Given the description of an element on the screen output the (x, y) to click on. 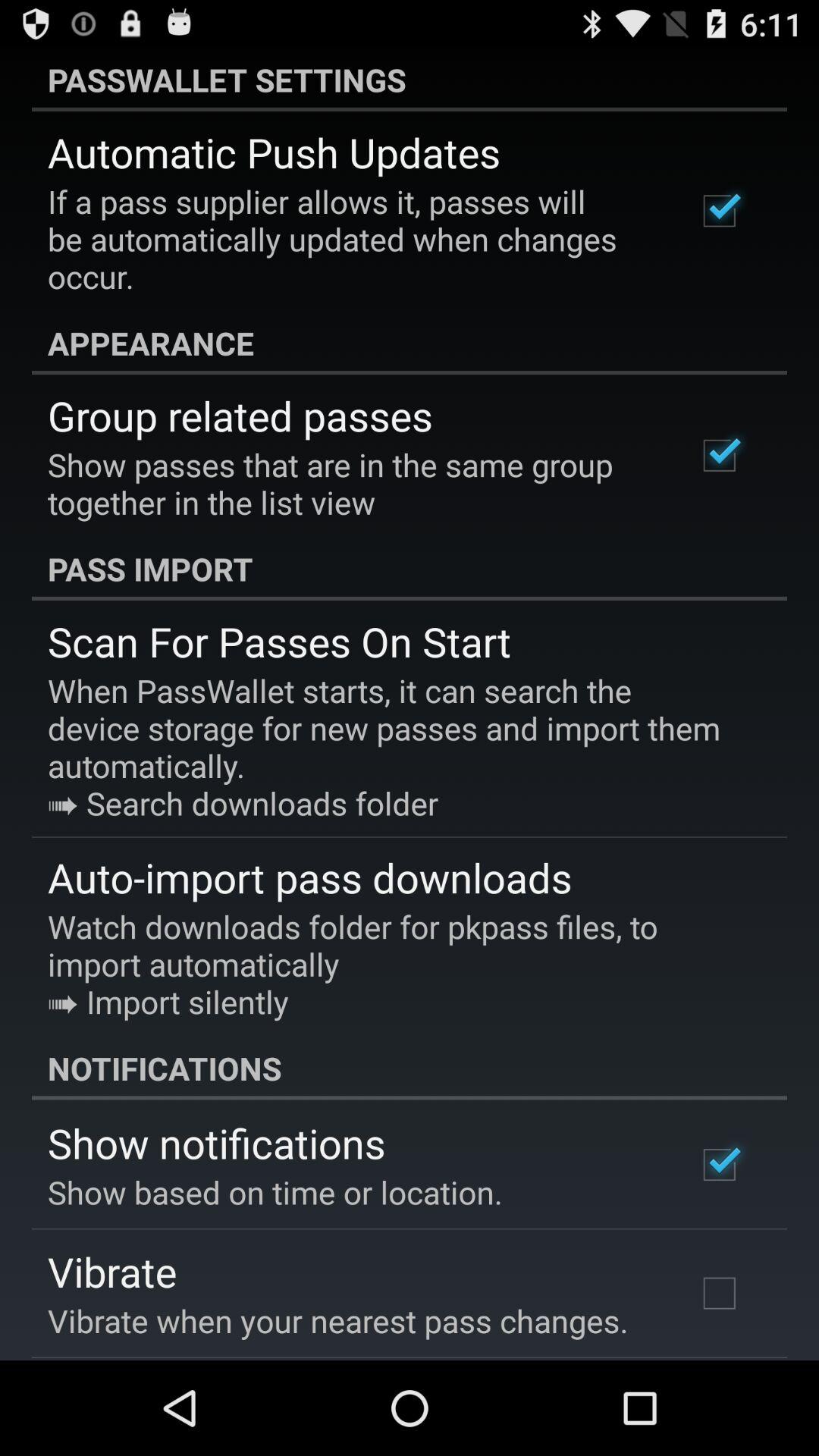
flip to the appearance (409, 342)
